Given the description of an element on the screen output the (x, y) to click on. 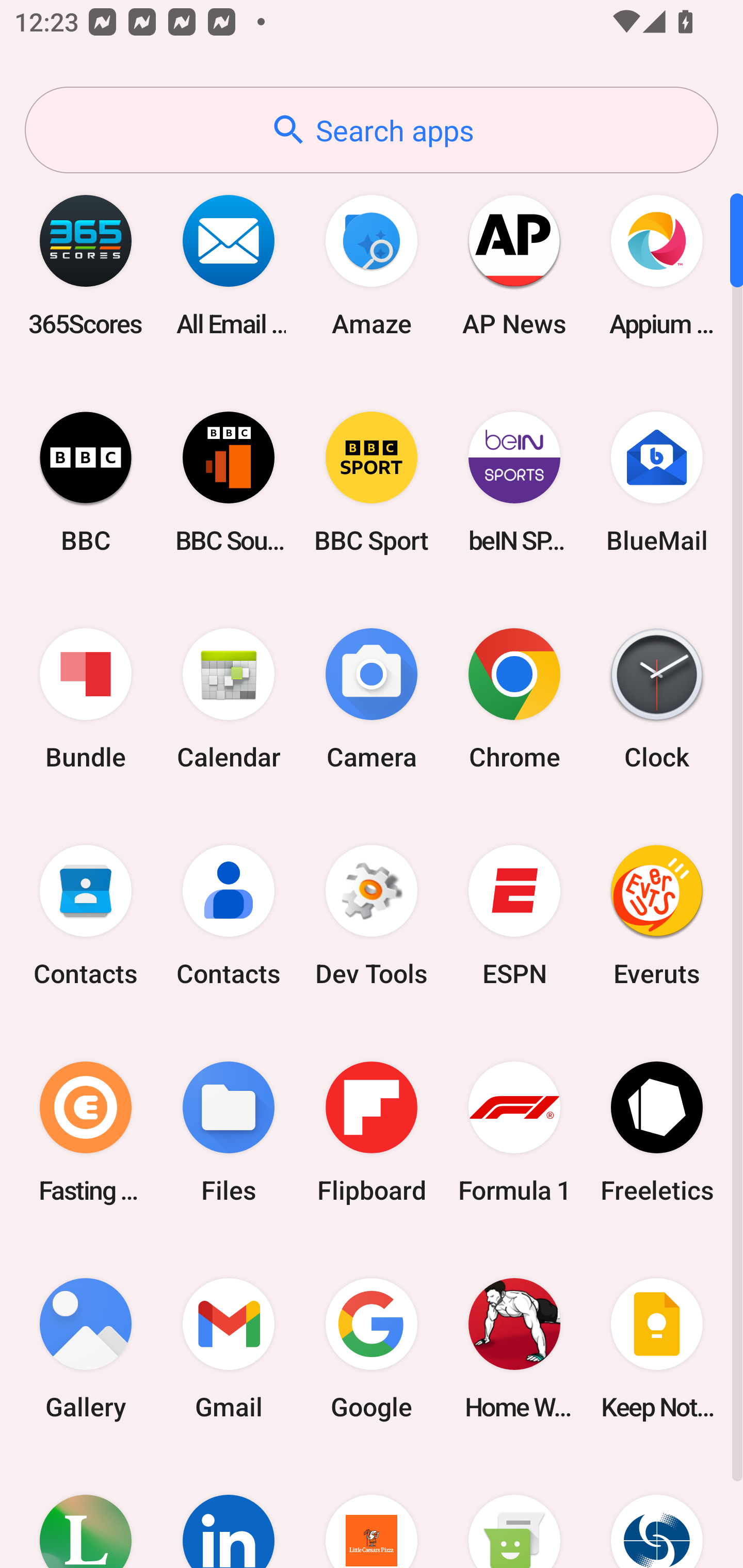
  Search apps (371, 130)
365Scores (85, 264)
All Email Connect (228, 264)
Amaze (371, 264)
AP News (514, 264)
Appium Settings (656, 264)
BBC (85, 482)
BBC Sounds (228, 482)
BBC Sport (371, 482)
beIN SPORTS (514, 482)
BlueMail (656, 482)
Bundle (85, 699)
Calendar (228, 699)
Camera (371, 699)
Chrome (514, 699)
Clock (656, 699)
Contacts (85, 915)
Contacts (228, 915)
Dev Tools (371, 915)
ESPN (514, 915)
Everuts (656, 915)
Fasting Coach (85, 1131)
Files (228, 1131)
Flipboard (371, 1131)
Formula 1 (514, 1131)
Freeletics (656, 1131)
Gallery (85, 1348)
Gmail (228, 1348)
Google (371, 1348)
Home Workout (514, 1348)
Keep Notes (656, 1348)
Lifesum (85, 1512)
LinkedIn (228, 1512)
Little Caesars Pizza (371, 1512)
Messaging (514, 1512)
MyObservatory (656, 1512)
